Given the description of an element on the screen output the (x, y) to click on. 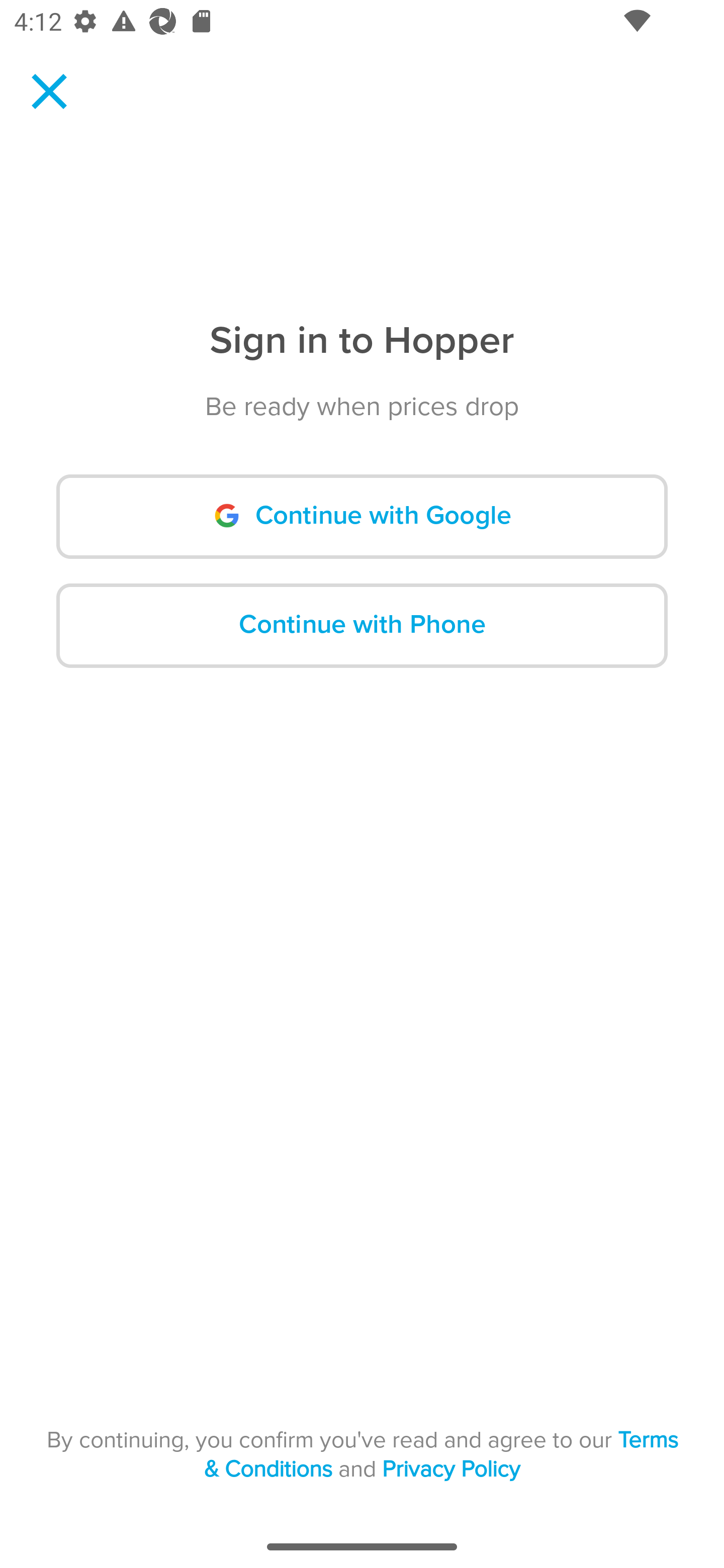
Navigate up (49, 91)
‍ Continue with Google (361, 516)
‍Continue with Phone (361, 625)
